Given the description of an element on the screen output the (x, y) to click on. 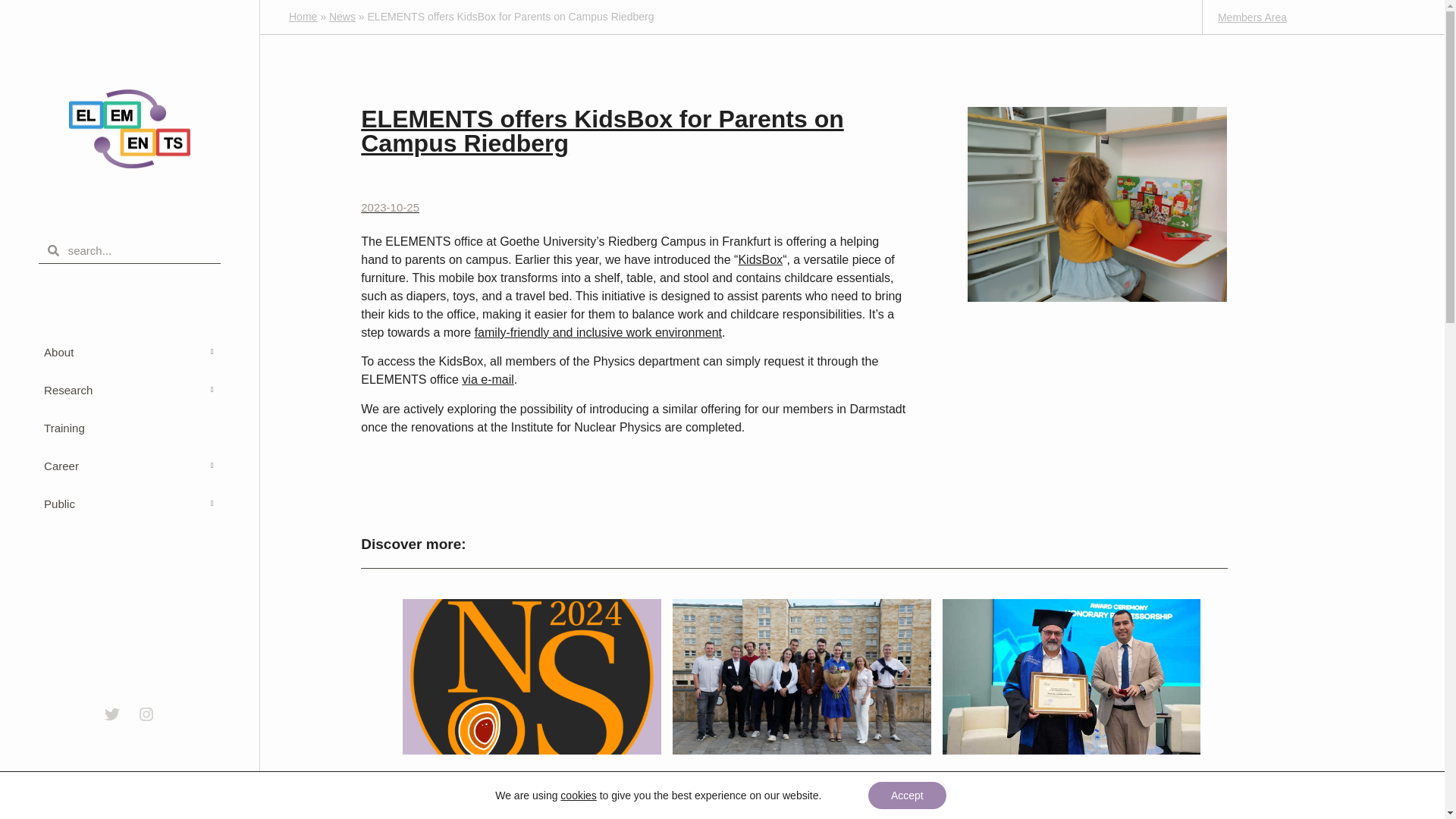
Home (302, 16)
ELEMENTS joins Night of Science once again (531, 785)
Public (129, 504)
Training (129, 428)
Research (129, 390)
Members Area (1252, 17)
2023-10-25 (390, 208)
family-friendly and inclusive work environment (598, 332)
via e-mail (487, 379)
Career (129, 466)
KidsBox (760, 259)
News (342, 16)
About (129, 352)
